Given the description of an element on the screen output the (x, y) to click on. 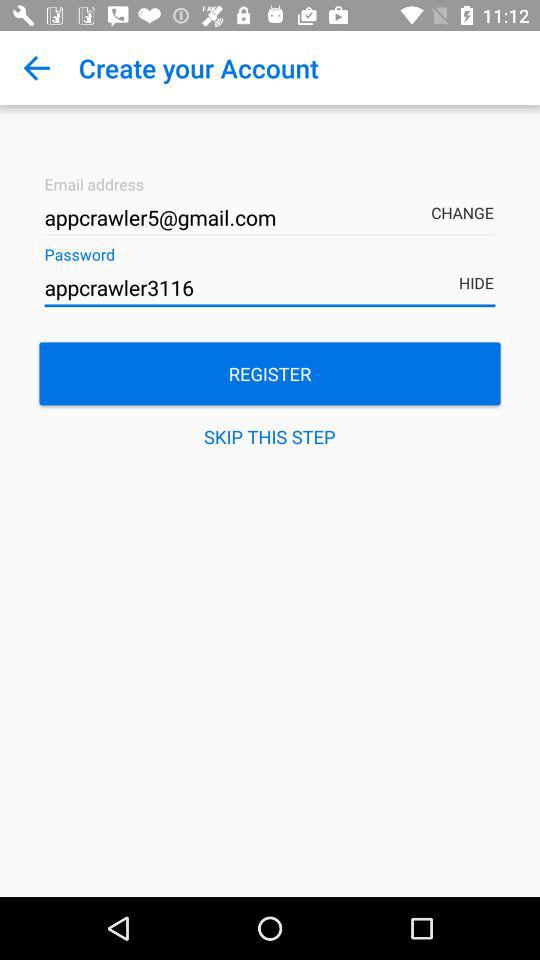
select the icon next to the create your account item (36, 68)
